Given the description of an element on the screen output the (x, y) to click on. 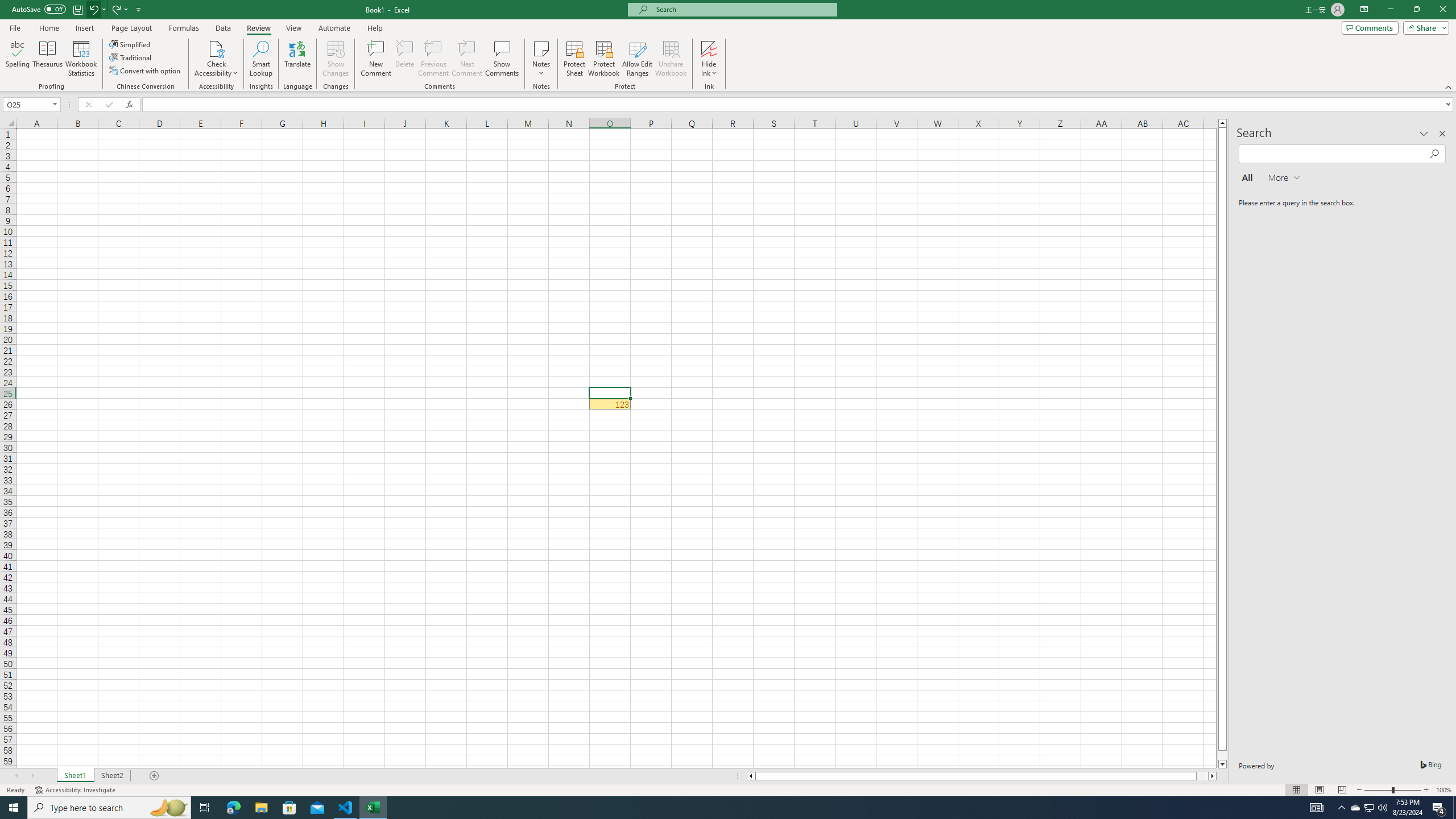
Protect Sheet... (574, 58)
Traditional (131, 56)
New Comment (376, 58)
Sheet2 (112, 775)
